Given the description of an element on the screen output the (x, y) to click on. 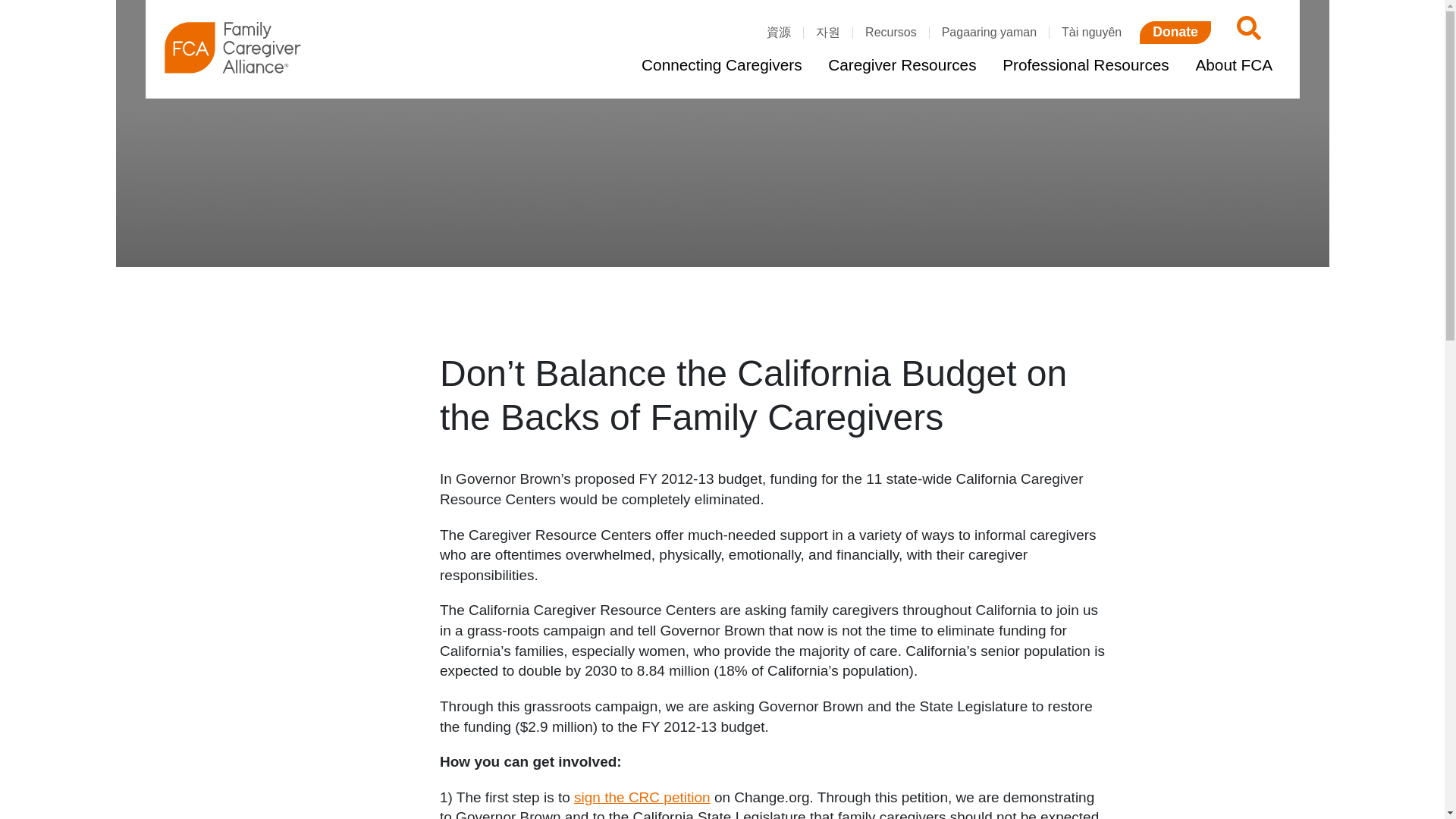
Toggle dropdown (814, 65)
Connecting Caregivers (721, 65)
About FCA (1233, 65)
Toggle dropdown (1182, 65)
Search (1246, 32)
Toggle dropdown (1285, 65)
Toggle dropdown (988, 65)
Professional Resources (1085, 65)
CRC Petition (641, 797)
Recursos (890, 32)
Caregiver Resources (902, 65)
